Given the description of an element on the screen output the (x, y) to click on. 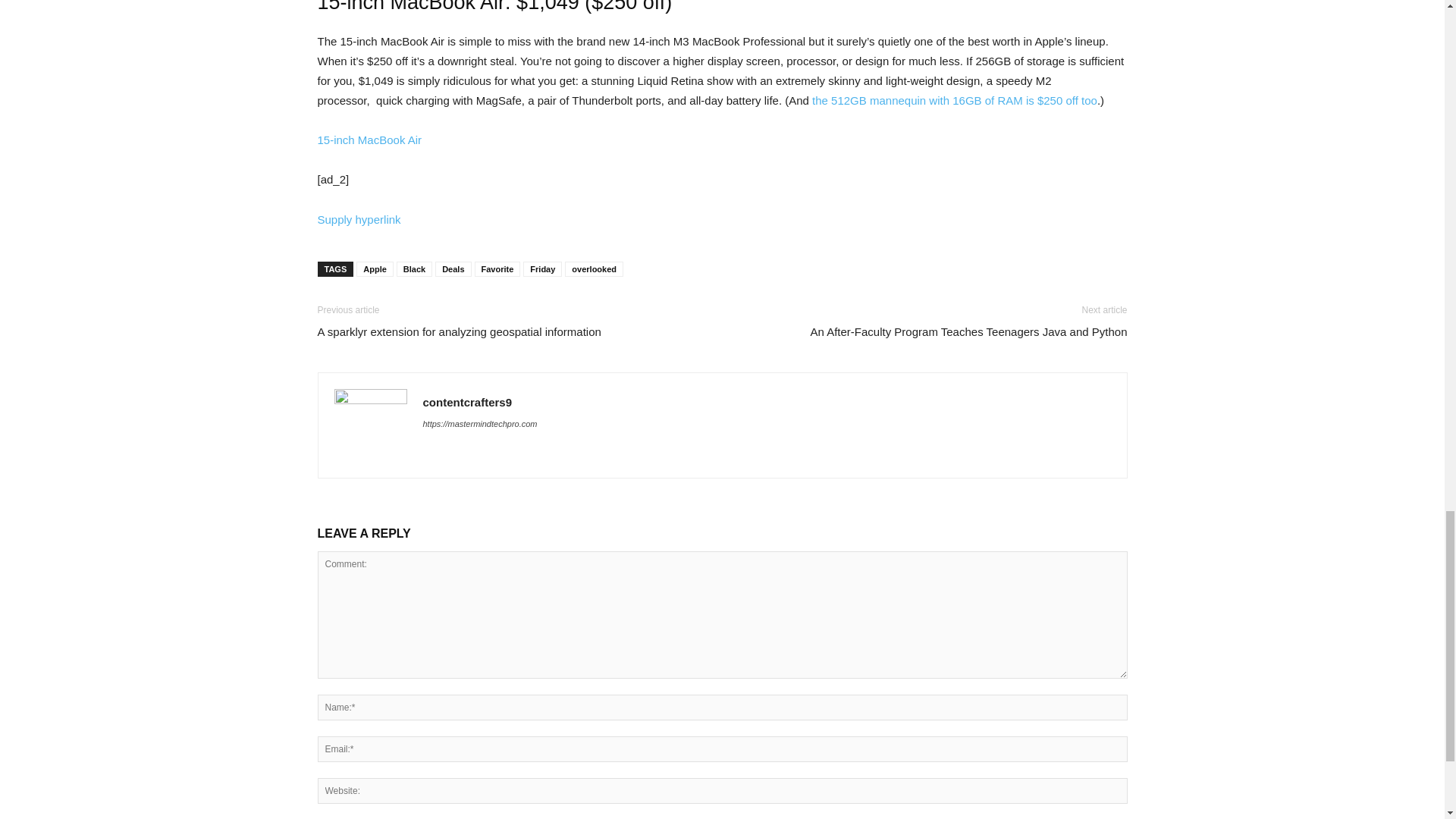
Favorite (497, 268)
A sparklyr extension for analyzing geospatial information (458, 331)
overlooked (593, 268)
Friday (542, 268)
contentcrafters9 (467, 401)
Black (414, 268)
Deals (452, 268)
Supply hyperlink (358, 219)
15-inch MacBook Air (369, 139)
An After-Faculty Program Teaches Teenagers Java and Python (967, 331)
